Given the description of an element on the screen output the (x, y) to click on. 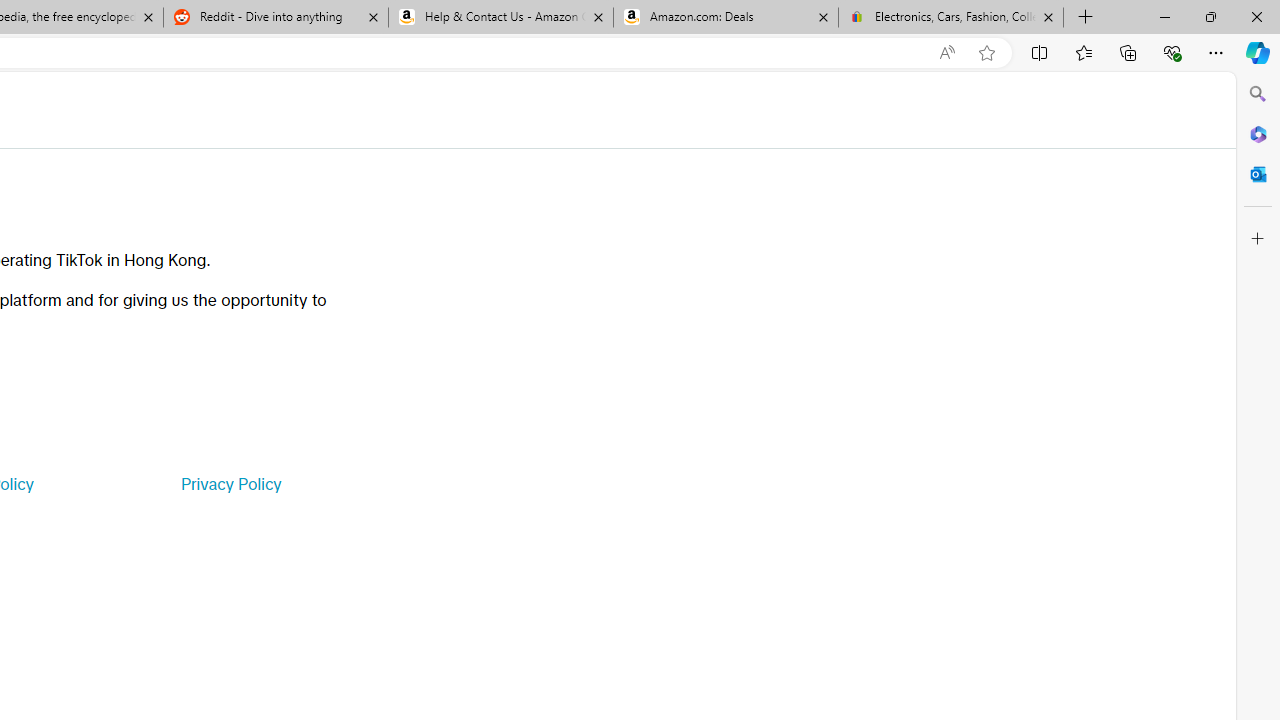
Privacy Policy (230, 484)
Amazon.com: Deals (726, 17)
